Given the description of an element on the screen output the (x, y) to click on. 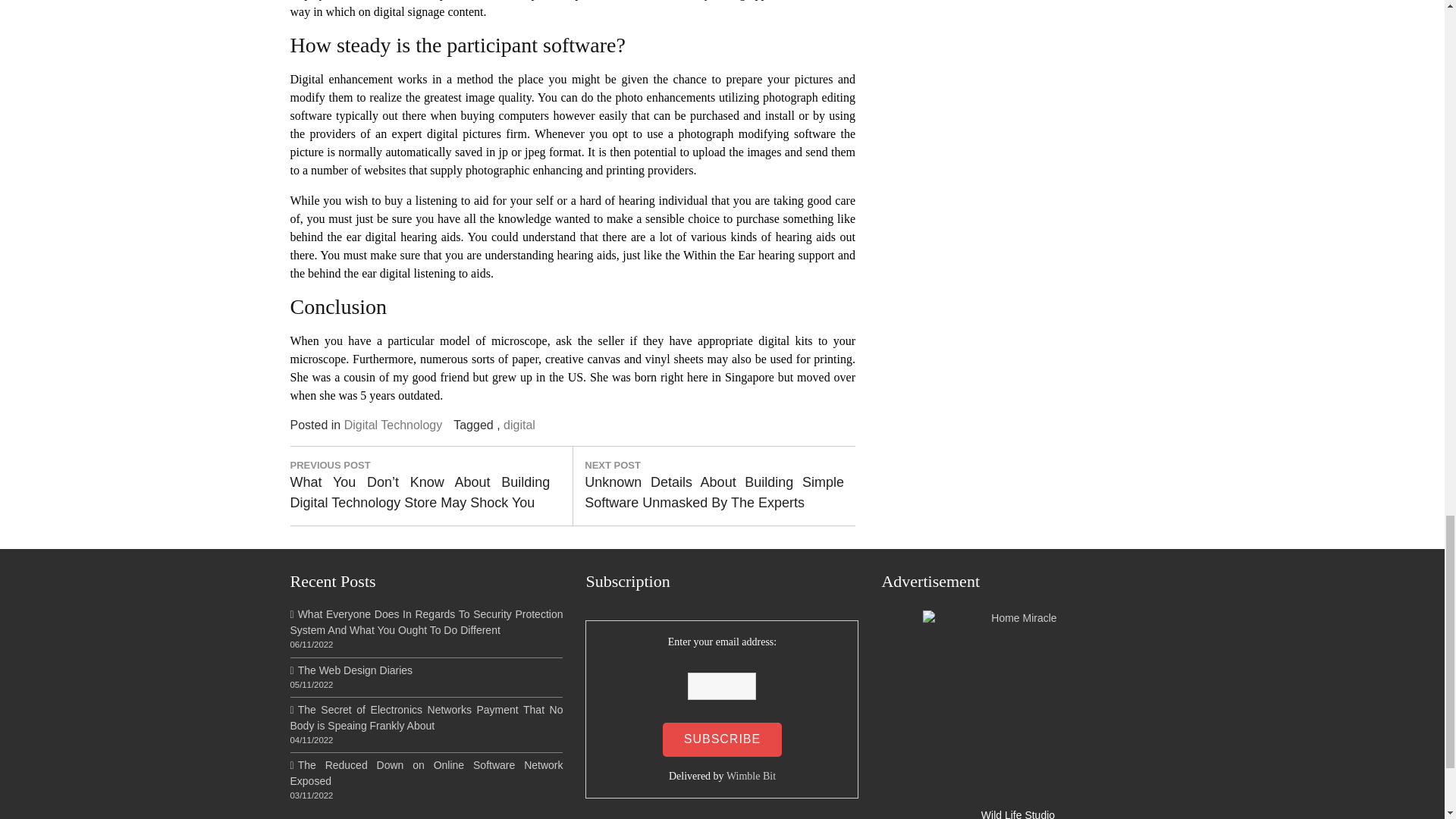
Subscribe (721, 739)
Digital Technology (392, 424)
Home Miracle (1017, 705)
digital (519, 424)
